Given the description of an element on the screen output the (x, y) to click on. 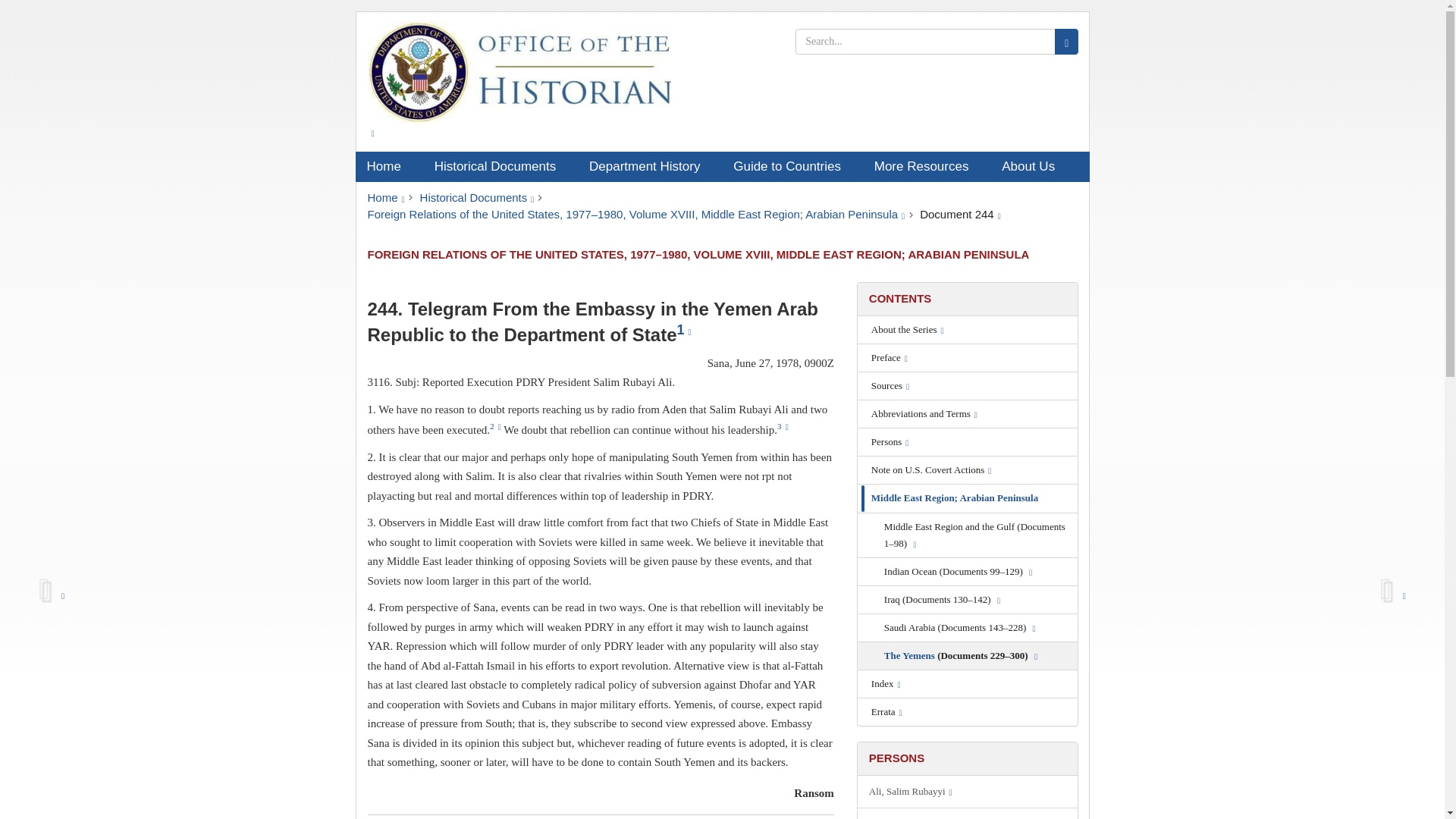
Guide to Countries (792, 166)
Document 244 (960, 214)
Historical Documents (477, 196)
Home (385, 196)
Historical Documents (500, 166)
About Us (1033, 166)
Home (388, 166)
Department History (650, 166)
More Resources (926, 166)
